Given the description of an element on the screen output the (x, y) to click on. 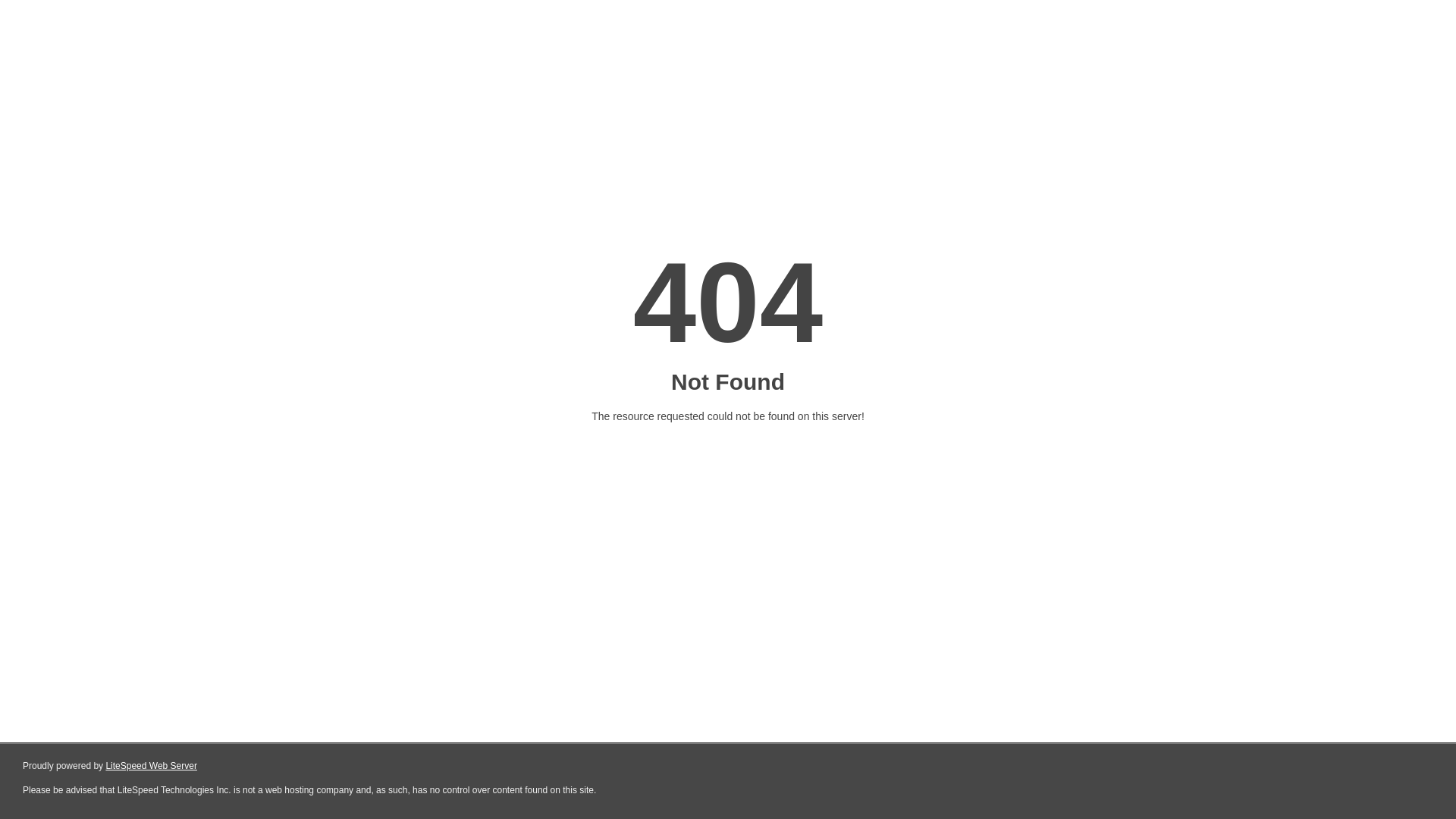
LiteSpeed Web Server Element type: text (151, 765)
